Given the description of an element on the screen output the (x, y) to click on. 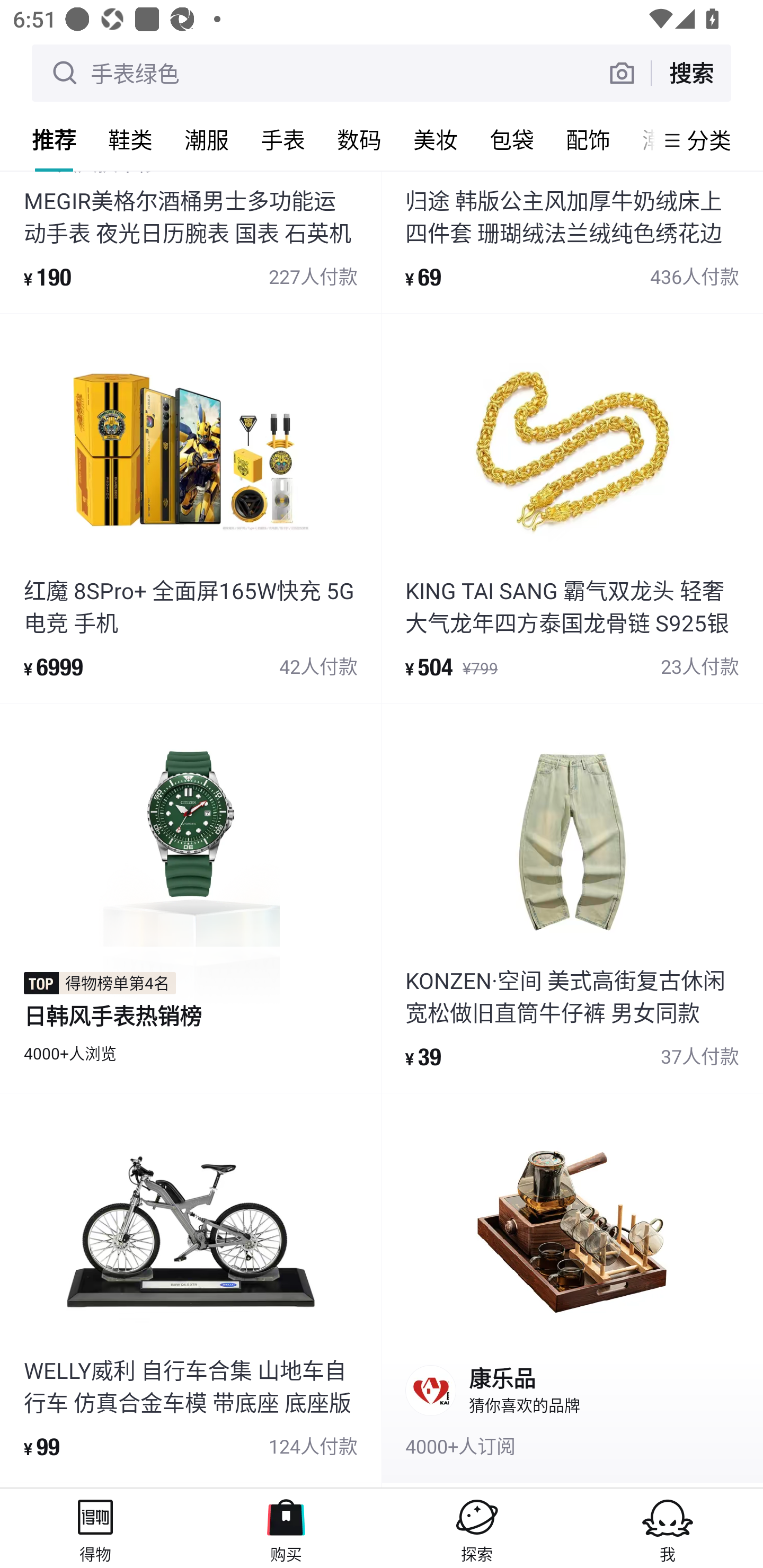
搜索 (690, 72)
推荐 (54, 139)
鞋类 (130, 139)
潮服 (206, 139)
手表 (282, 139)
数码 (359, 139)
美妆 (435, 139)
包袋 (511, 139)
配饰 (588, 139)
分类 (708, 139)
得物榜单第4名 日韩风手表热销榜 4000+人浏览 (190, 898)
康乐品 猜你喜欢的品牌 4000+人订阅 (572, 1287)
得物 (95, 1528)
购买 (285, 1528)
探索 (476, 1528)
我 (667, 1528)
